Given the description of an element on the screen output the (x, y) to click on. 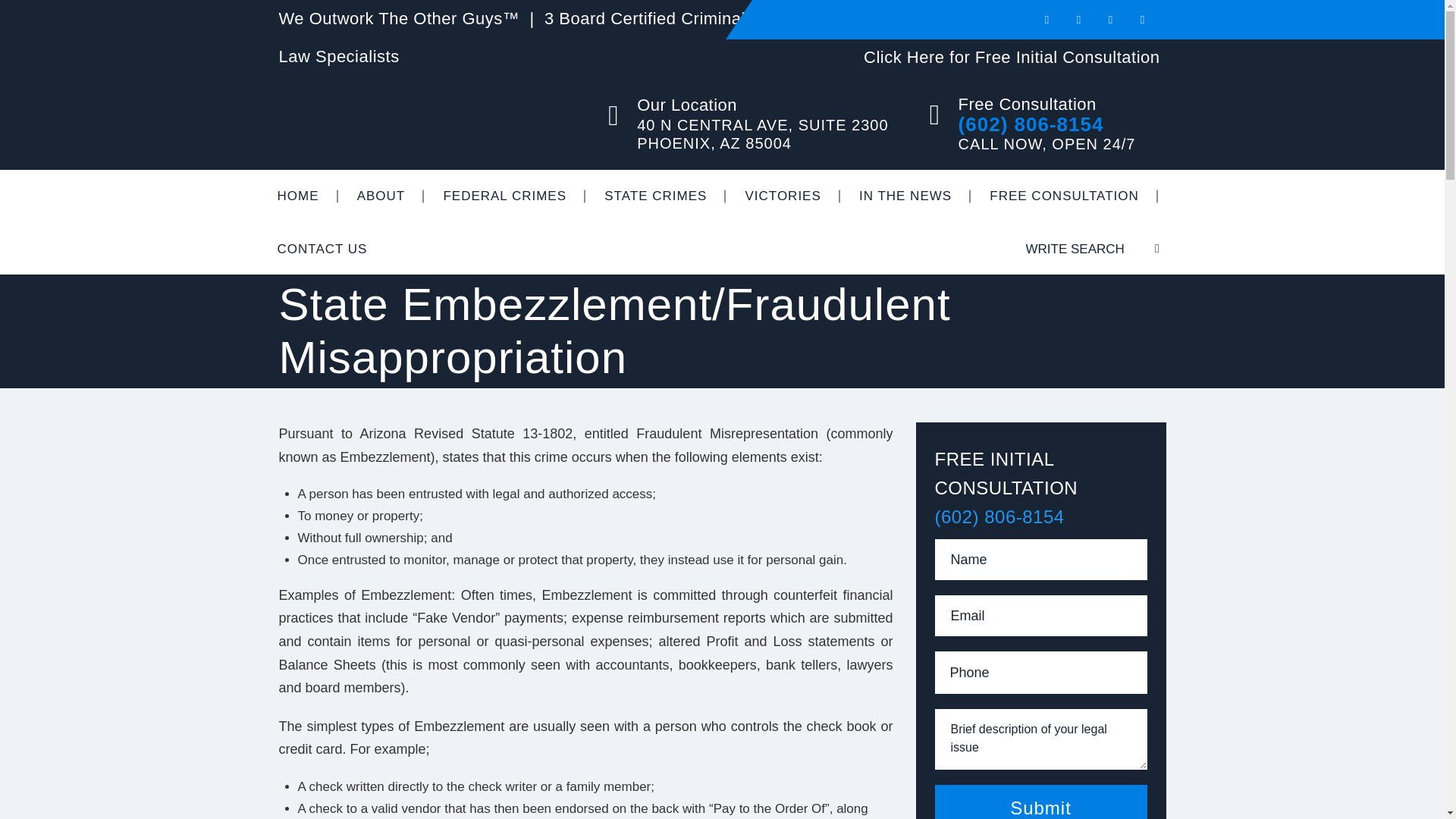
STATE CRIMES (654, 195)
CONTACT US (321, 249)
Submit (1040, 801)
VICTORIES (782, 195)
HOME (297, 195)
IN THE NEWS (905, 195)
FEDERAL CRIMES (504, 195)
FREE CONSULTATION (1064, 195)
Click Here for Free Initial Consultation (1010, 56)
Submit (1040, 801)
